Given the description of an element on the screen output the (x, y) to click on. 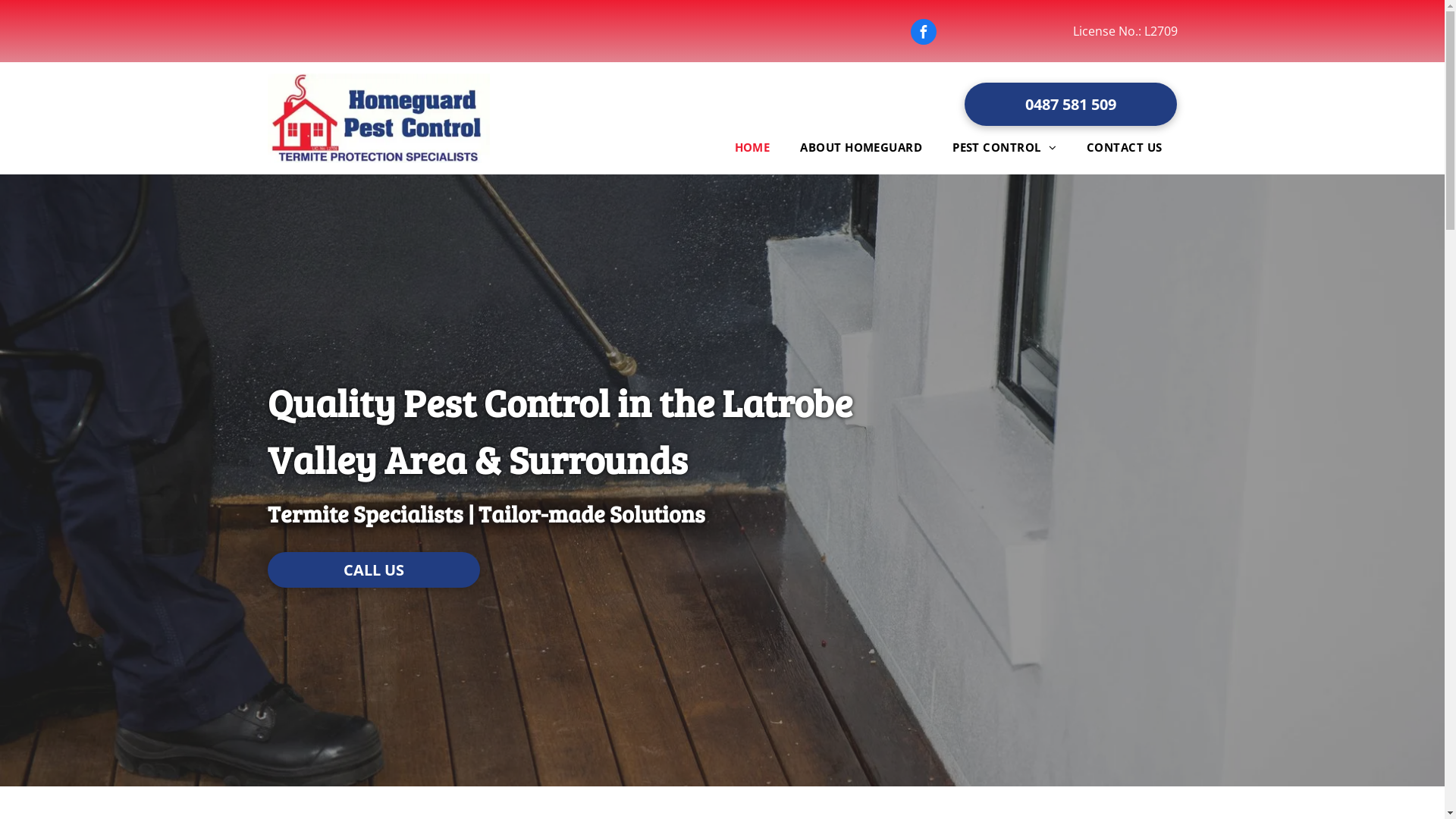
Homeguard Pest Control Element type: hover (377, 118)
CALL US Element type: text (372, 569)
HOME Element type: text (752, 147)
CONTACT US Element type: text (1124, 147)
ABOUT HOMEGUARD Element type: text (860, 147)
PEST CONTROL Element type: text (1004, 147)
0487 581 509 Element type: text (1070, 103)
